Given the description of an element on the screen output the (x, y) to click on. 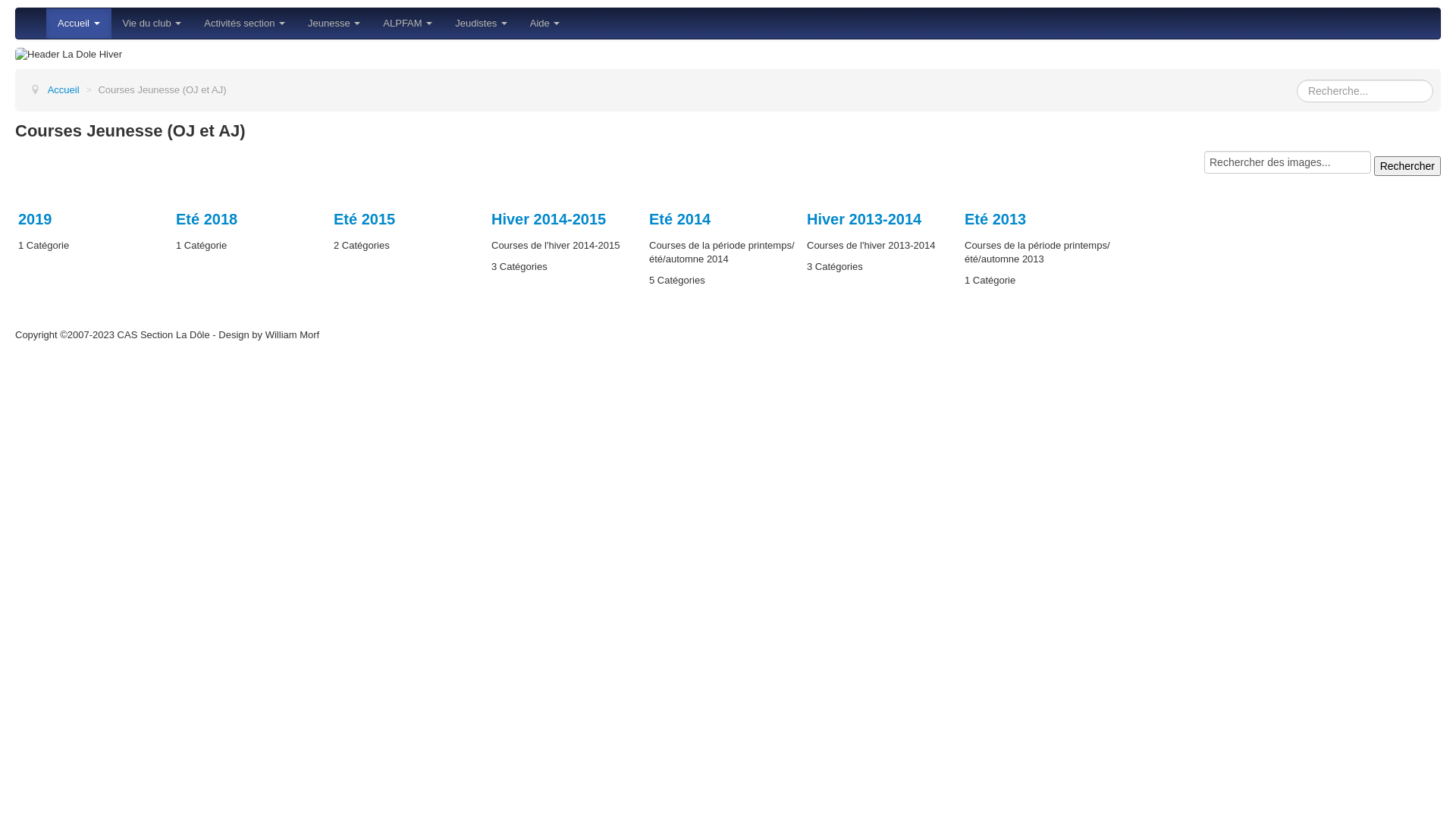
2019 Element type: text (35, 218)
Jeunesse Element type: text (333, 23)
Accueil Element type: text (78, 23)
Aide Element type: text (544, 23)
Jeudistes Element type: text (480, 23)
Hiver 2013-2014 Element type: text (863, 218)
Vie du club Element type: text (152, 23)
Hiver 2014-2015 Element type: text (548, 218)
ALPFAM Element type: text (407, 23)
Rechercher Element type: text (1407, 165)
Accueil Element type: text (63, 89)
